Given the description of an element on the screen output the (x, y) to click on. 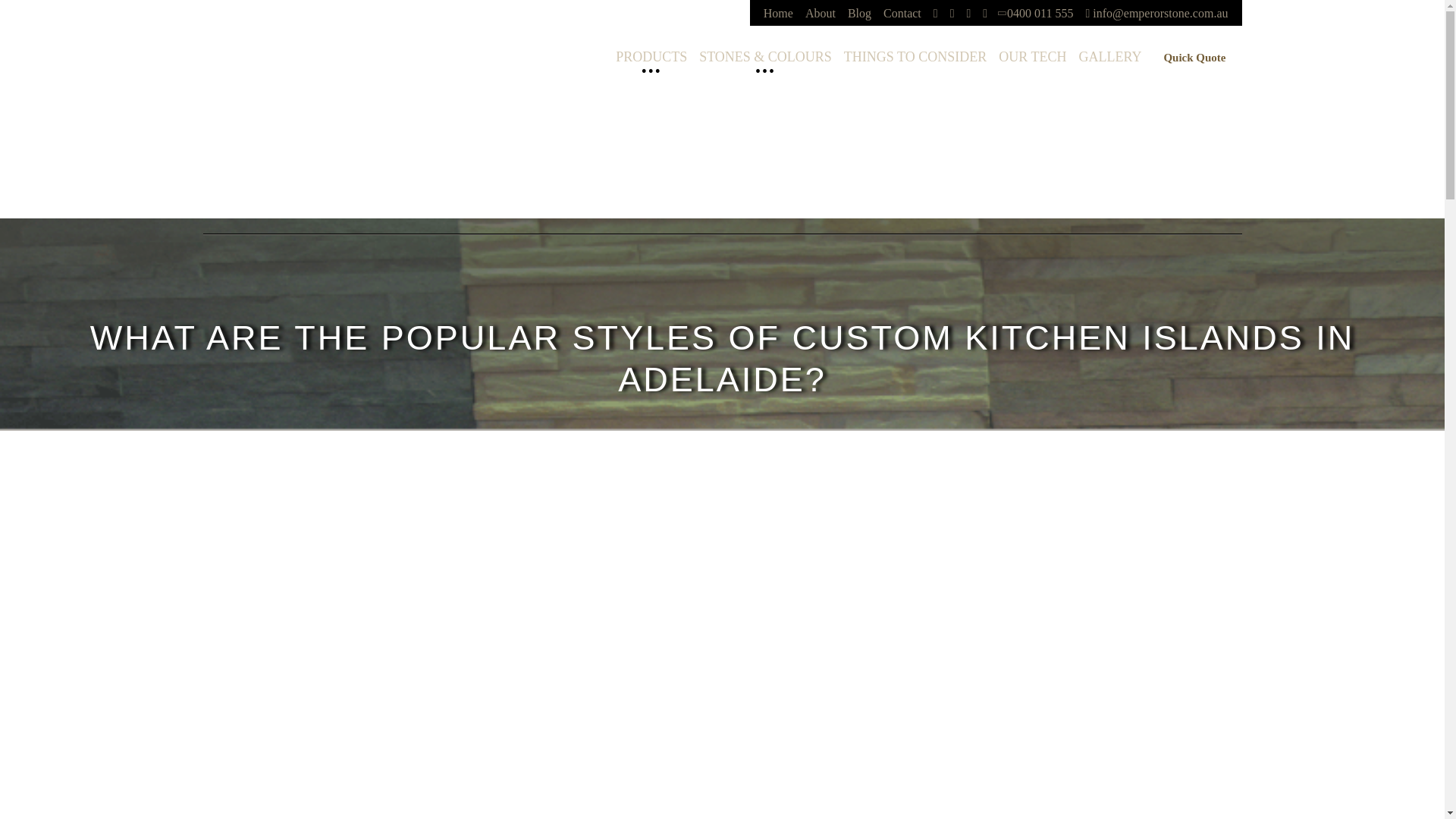
0400 011 555 (1035, 12)
Blog (859, 12)
PRODUCTS (651, 56)
THINGS TO CONSIDER (915, 56)
Home (778, 12)
About (820, 12)
GALLERY (1109, 56)
Contact (902, 12)
OUR TECH (1031, 56)
Quick Quote (1194, 58)
